Given the description of an element on the screen output the (x, y) to click on. 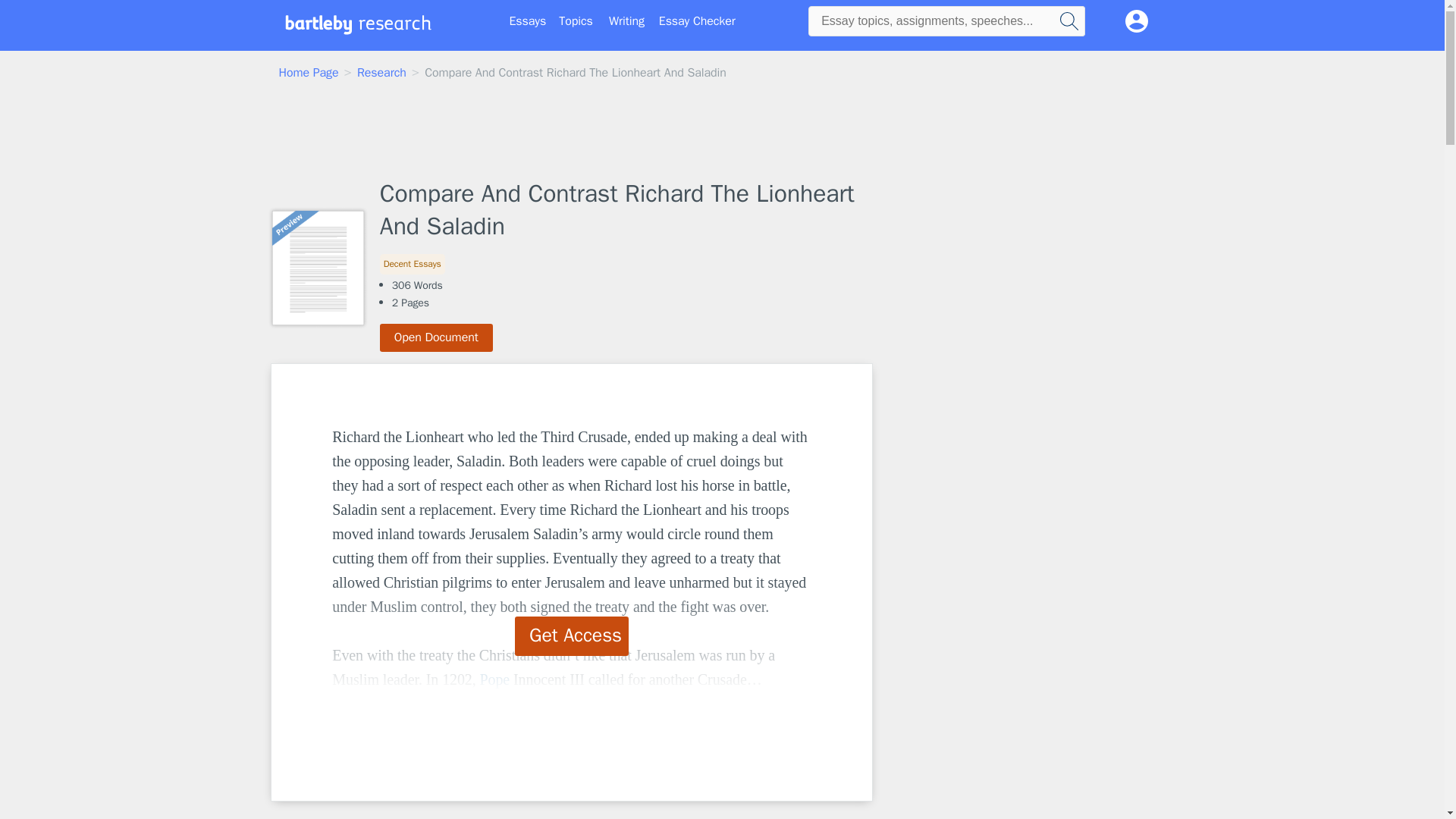
Get Access (571, 636)
Pope (495, 678)
Open Document (436, 337)
Essays (528, 20)
Essay Checker (697, 20)
Topics (575, 20)
Writing (626, 20)
Home Page (309, 72)
Research (381, 72)
